Given the description of an element on the screen output the (x, y) to click on. 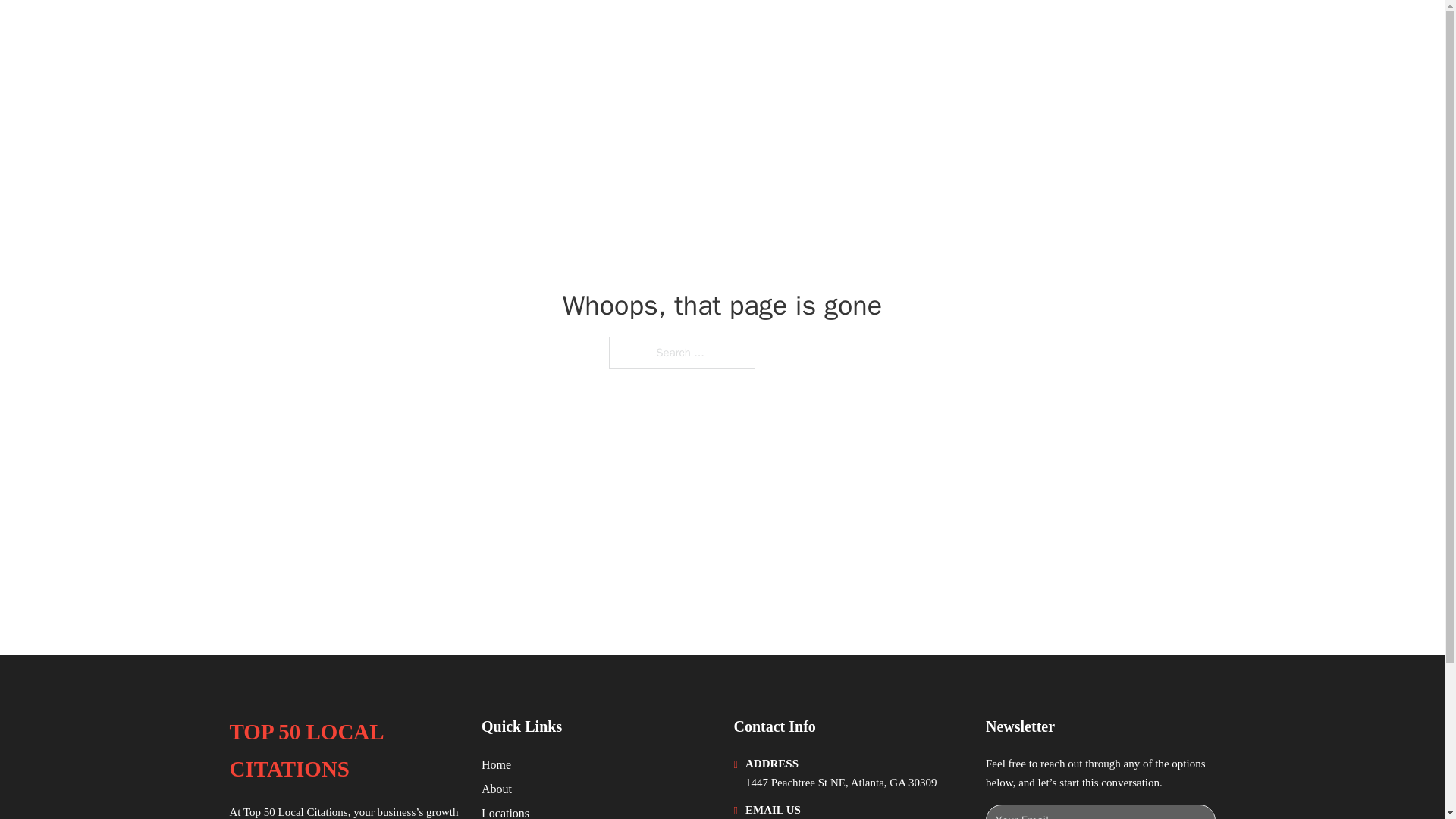
LOCATIONS (1098, 31)
HOME (1025, 31)
TOP 50 LOCAL CITATIONS (382, 31)
About (496, 788)
TOP 50 LOCAL CITATIONS (343, 750)
Home (496, 764)
Locations (505, 811)
